Given the description of an element on the screen output the (x, y) to click on. 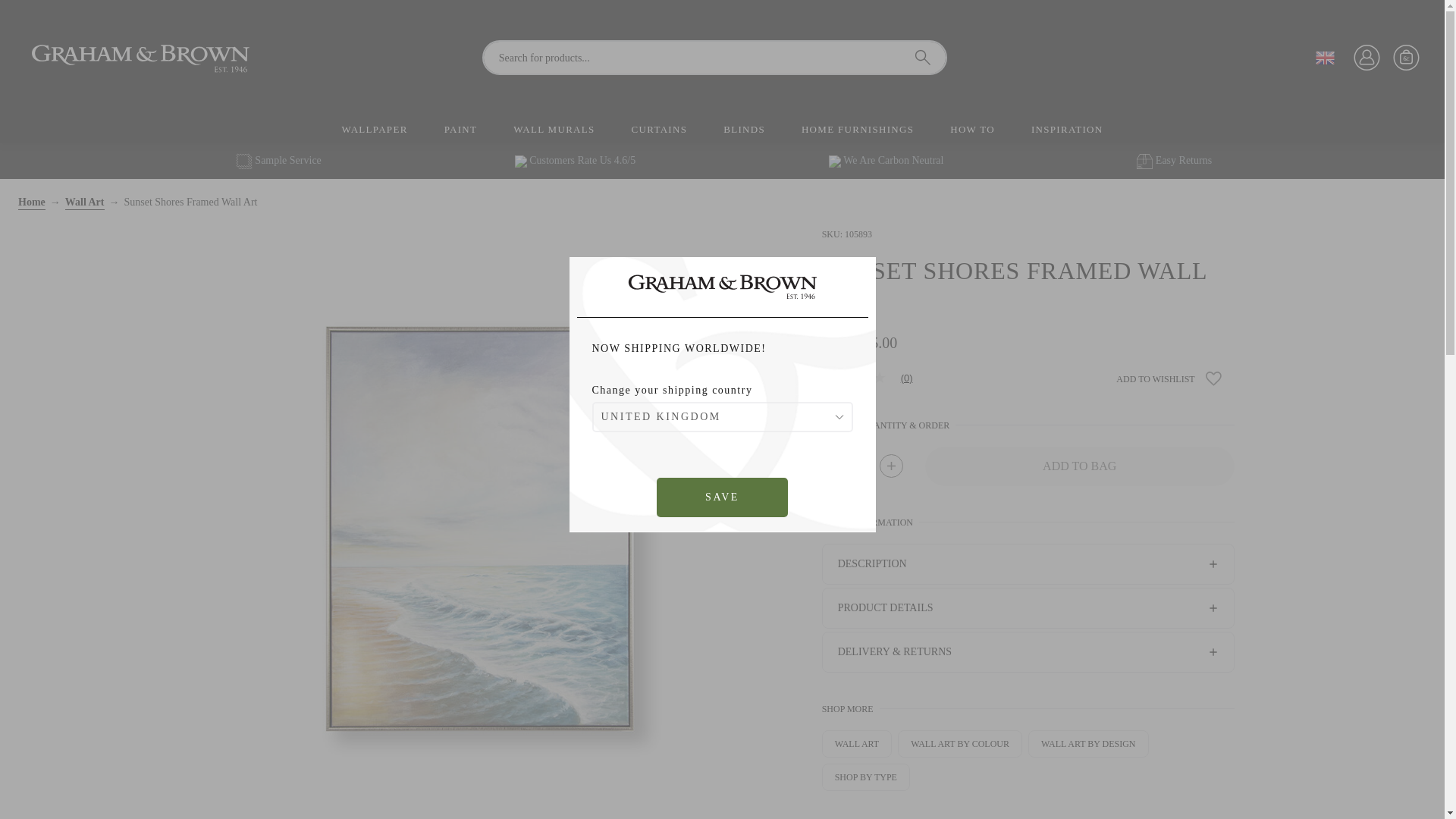
1 (862, 465)
Add to Bag (1079, 466)
Save For Later (1214, 379)
Sign In (1367, 57)
WALLPAPER (374, 129)
Go to Wall Art (84, 202)
View your Bag (1407, 57)
Save (721, 496)
